Given the description of an element on the screen output the (x, y) to click on. 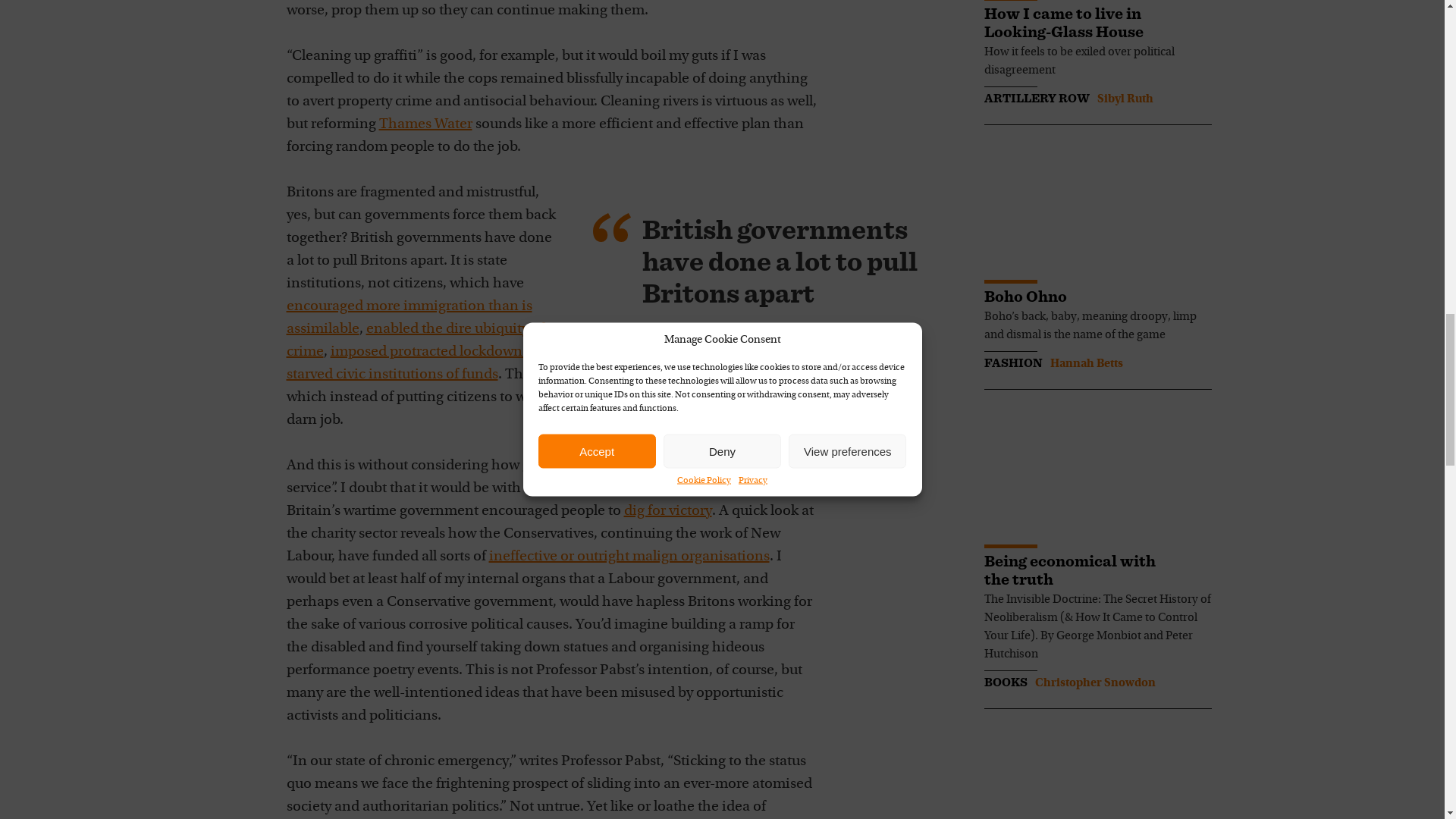
encouraged more immigration than is assimilable (409, 317)
enabled the dire ubiquity of crime (415, 340)
Posts by Sibyl Ruth (1124, 99)
Thames Water (424, 124)
Posts by Christopher Snowdon (1093, 683)
Posts by Hannah Betts (1085, 363)
